Given the description of an element on the screen output the (x, y) to click on. 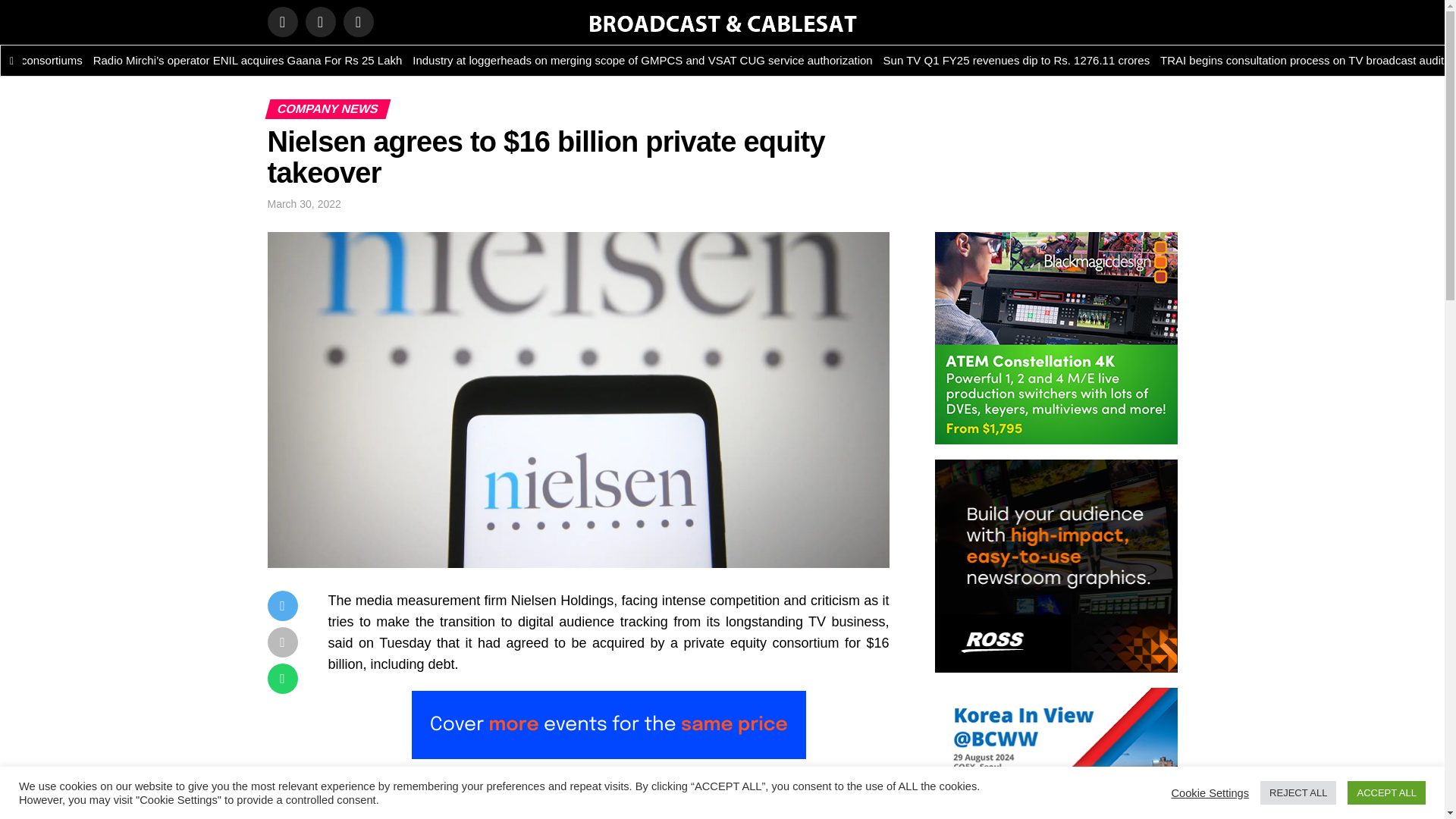
Sun TV Q1 FY25 revenues dip to Rs. 1276.11 crores (1180, 60)
